Given the description of an element on the screen output the (x, y) to click on. 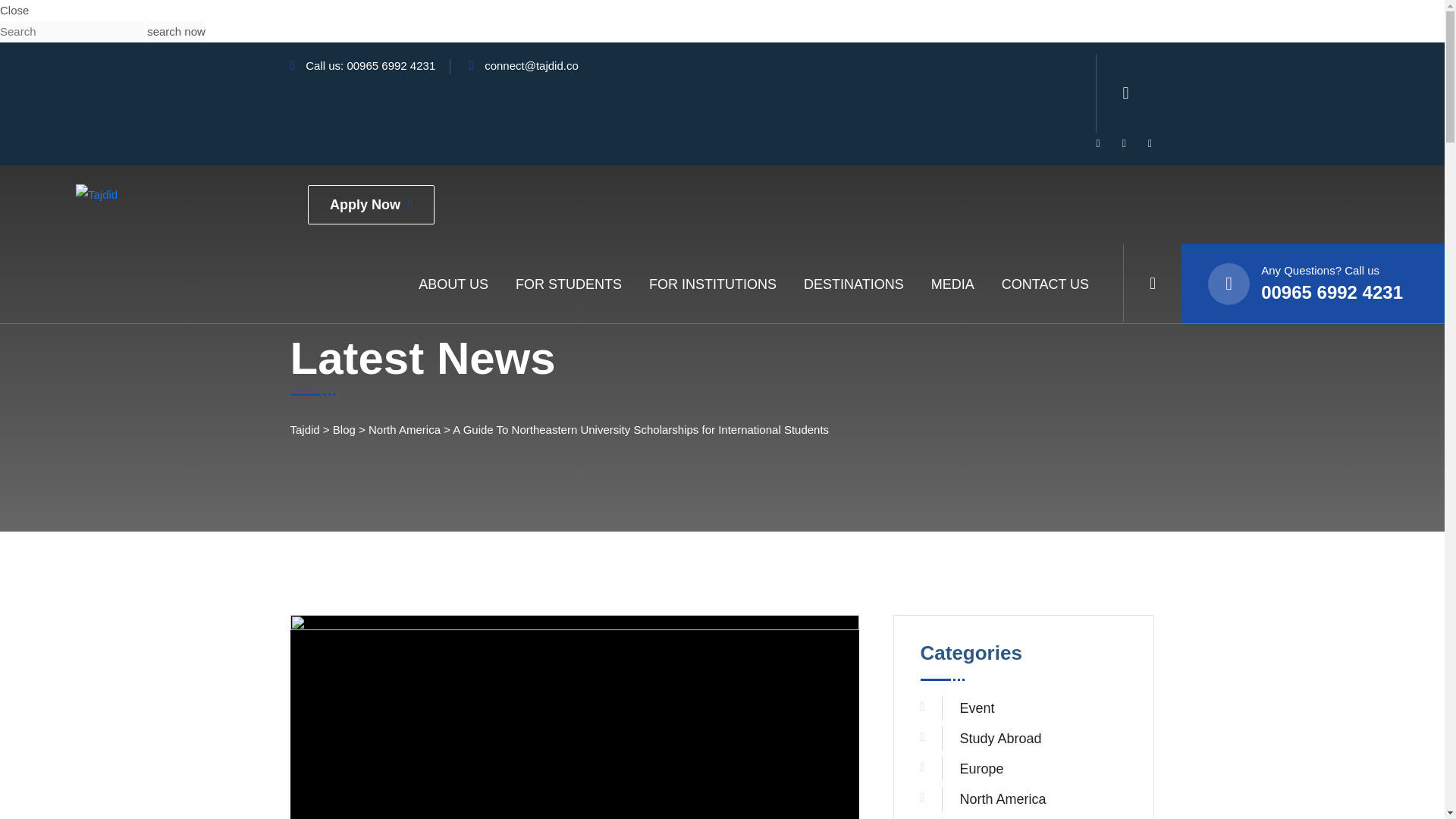
FOR INSTITUTIONS (712, 283)
Go to Tajdid. (303, 429)
00965 6992 4231 (390, 65)
Go to the North America Category archives. (404, 429)
Go to Blog. (344, 429)
ABOUT US (453, 283)
search now (176, 31)
Apply Now (370, 204)
DESTINATIONS (853, 283)
FOR STUDENTS (568, 283)
